Given the description of an element on the screen output the (x, y) to click on. 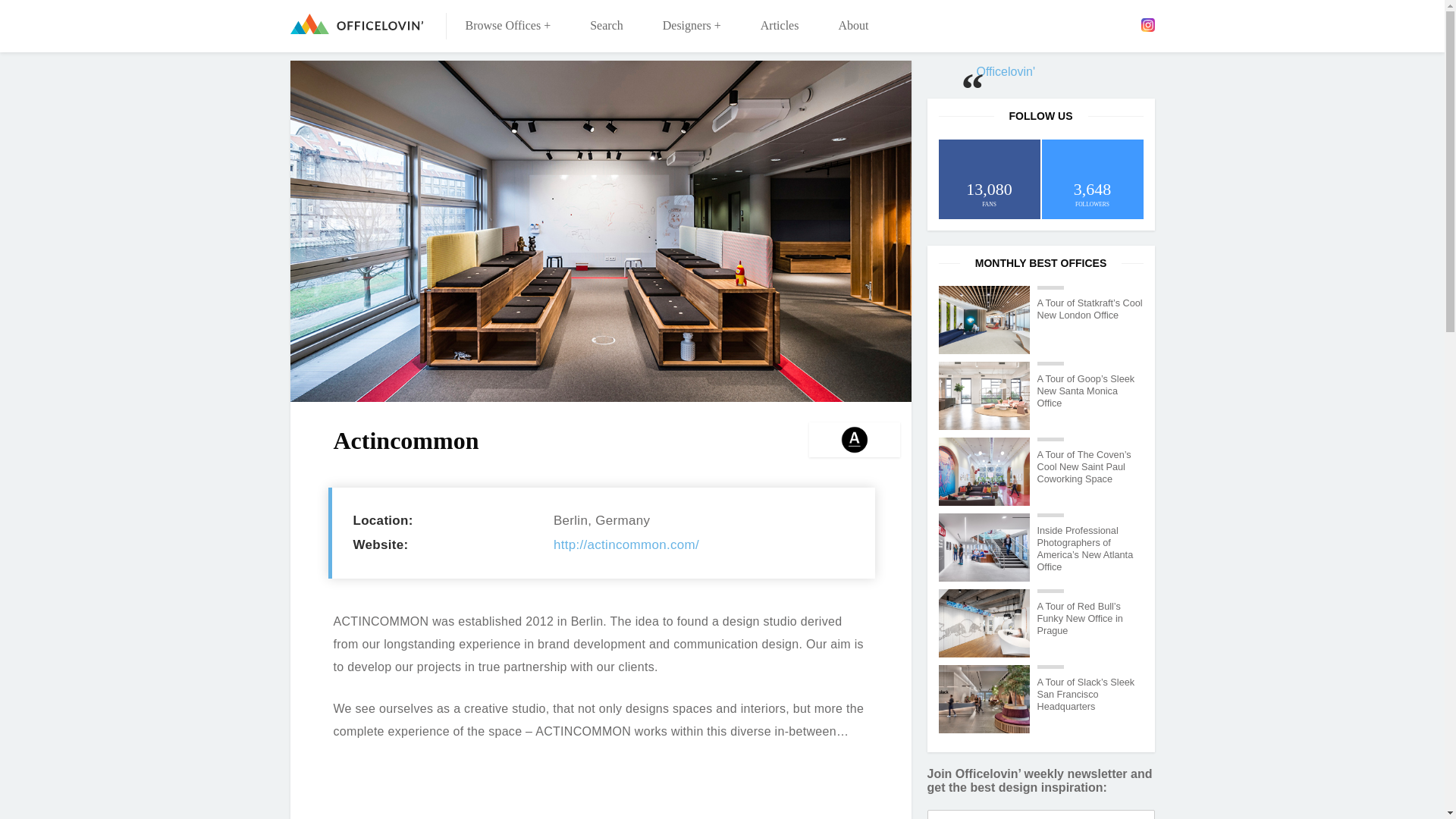
Officelovin on Pinterest (1125, 24)
Officelovin on LinkedIn (1102, 24)
Officelovin on Twitter (1082, 24)
Search (606, 25)
Advertisement (601, 796)
Officelovin on Instagram (1147, 24)
Officelovin on Facebook (1058, 24)
